Given the description of an element on the screen output the (x, y) to click on. 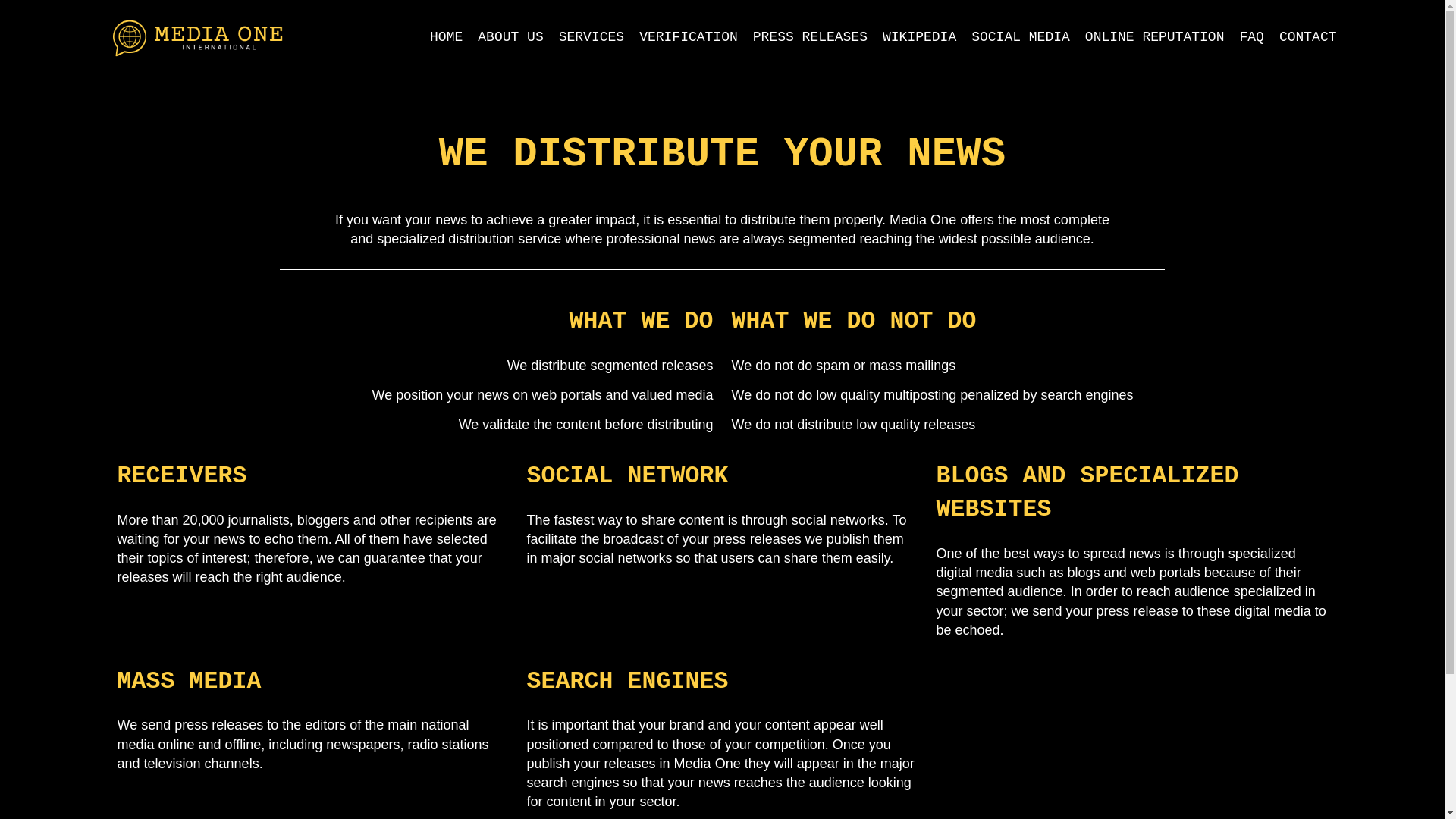
SERVICES (591, 36)
HOME (446, 36)
SOCIAL MEDIA (1020, 36)
ABOUT US (510, 36)
PRESS RELEASES (809, 36)
WIKIPEDIA (919, 36)
ONLINE REPUTATION (1154, 36)
CONTACT (1307, 36)
FAQ (1251, 36)
VERIFICATION (688, 36)
